Given the description of an element on the screen output the (x, y) to click on. 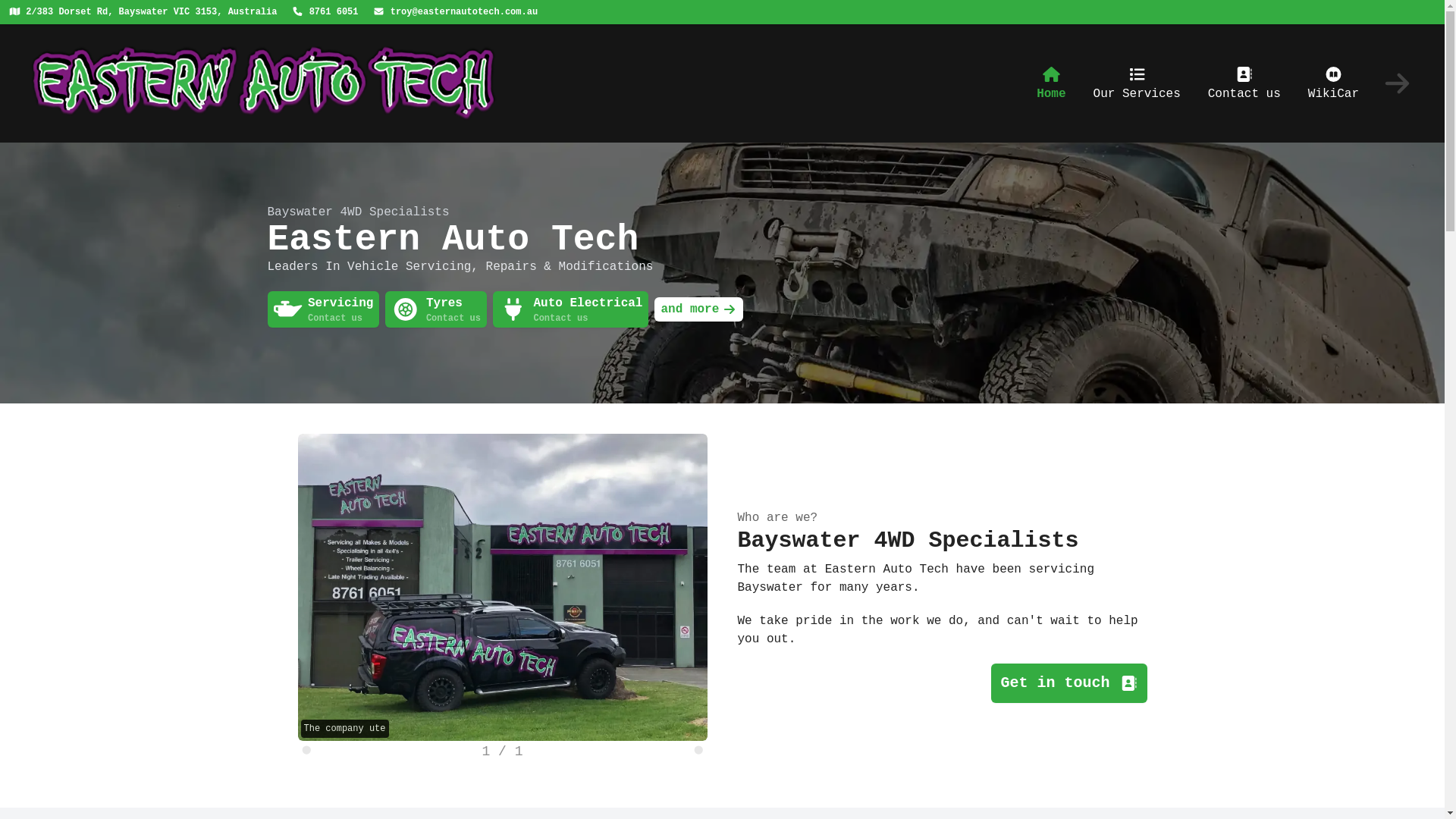
troy@easternautotech.com.au Element type: text (455, 12)
Servicing
Contact us Element type: text (322, 309)
Get in touch Element type: text (1068, 682)
Tyres
Contact us Element type: text (435, 309)
Home Element type: text (1050, 83)
2/383 Dorset Rd, Bayswater VIC 3153, Australia Element type: text (142, 12)
WikiCar Element type: text (1333, 83)
8761 6051 Element type: text (324, 12)
and more Element type: text (698, 309)
Our Services Element type: text (1136, 83)
Auto Electrical
Contact us Element type: text (570, 309)
Contact us Element type: text (1244, 83)
